Given the description of an element on the screen output the (x, y) to click on. 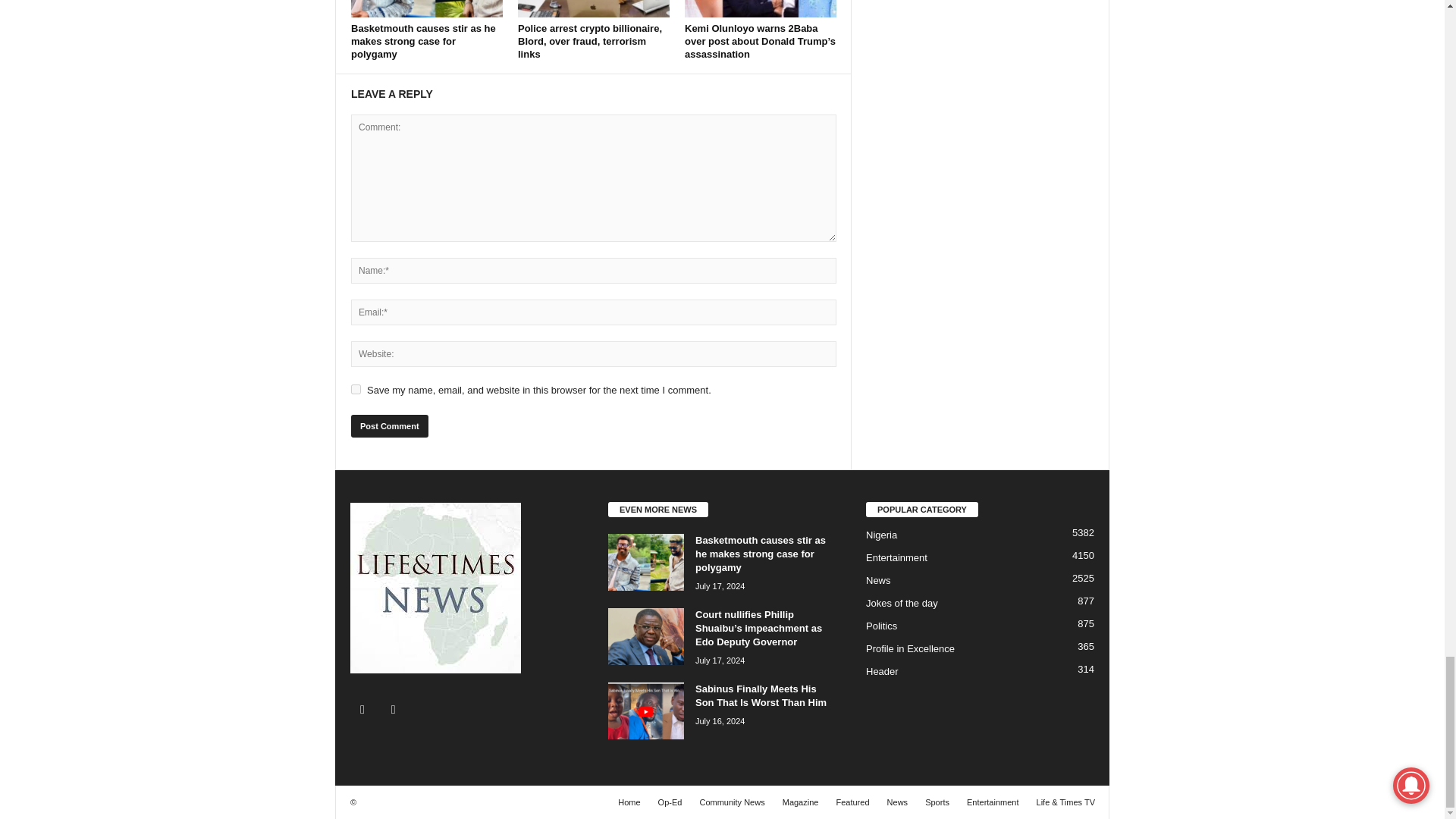
Post Comment (389, 425)
yes (355, 388)
